Given the description of an element on the screen output the (x, y) to click on. 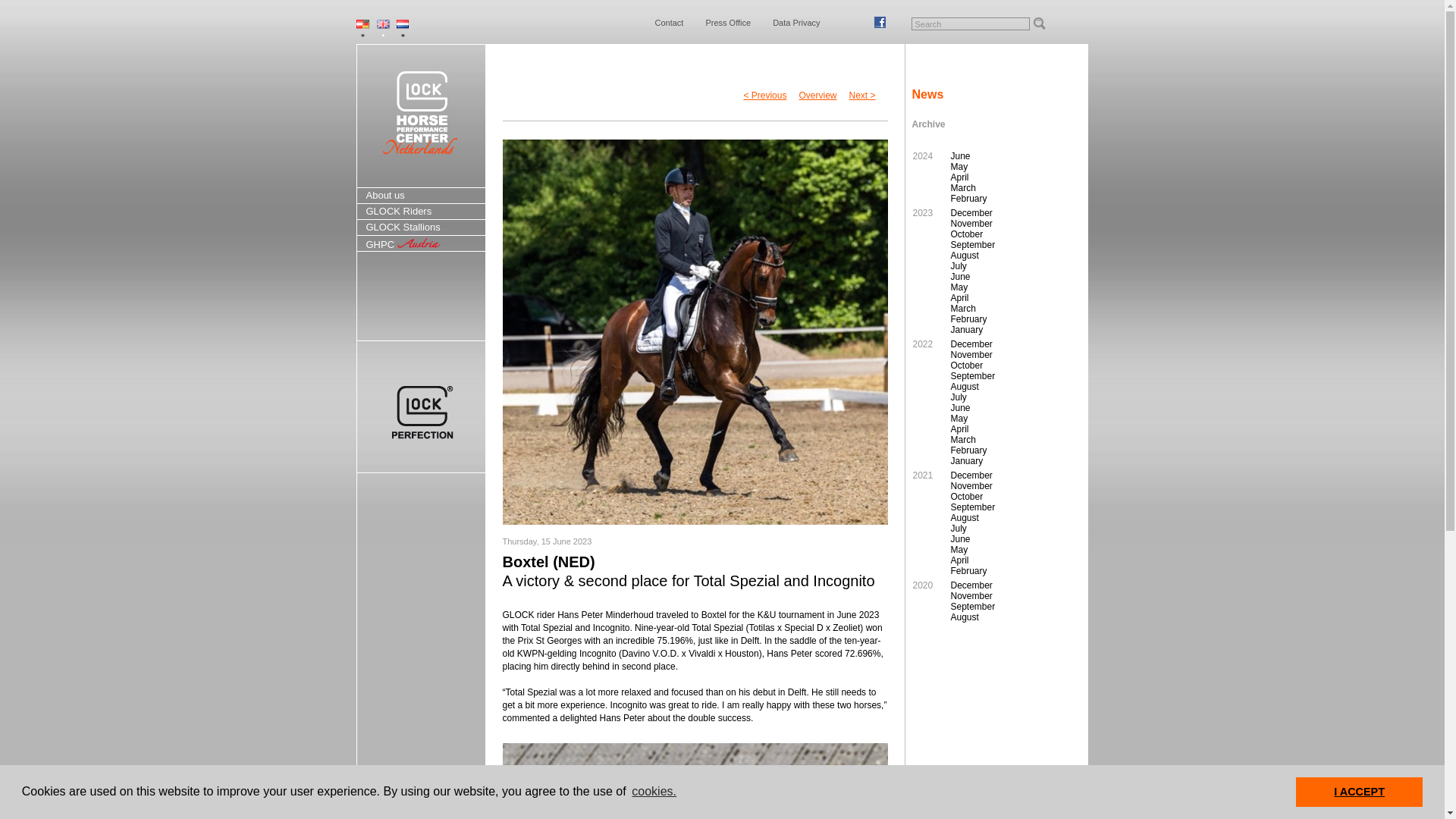
Overview (816, 95)
Netherlands (398, 27)
April (1007, 176)
GLOCK Riders (421, 211)
June (1007, 155)
Glock Perfection (420, 406)
Suchen (1037, 23)
March (1007, 187)
December (1007, 213)
February (1007, 198)
GLOCK HORSE Performance Center Netherlands (420, 110)
Press Office (727, 33)
GLOCK Stallions (421, 227)
Data Privacy (796, 33)
